Given the description of an element on the screen output the (x, y) to click on. 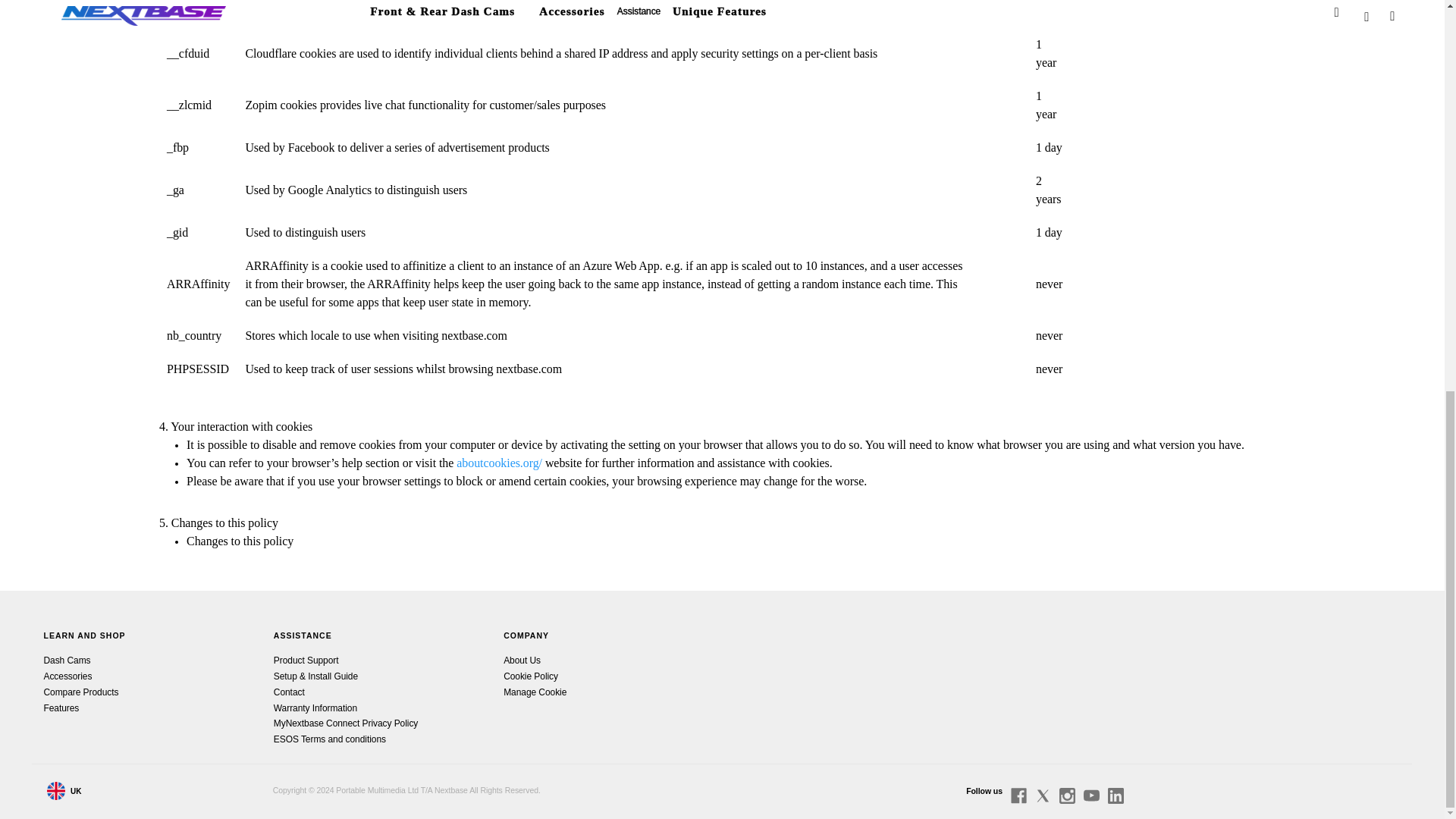
facebook (1018, 795)
linkedin (1116, 795)
instagram (1067, 795)
youtube (1091, 795)
